Given the description of an element on the screen output the (x, y) to click on. 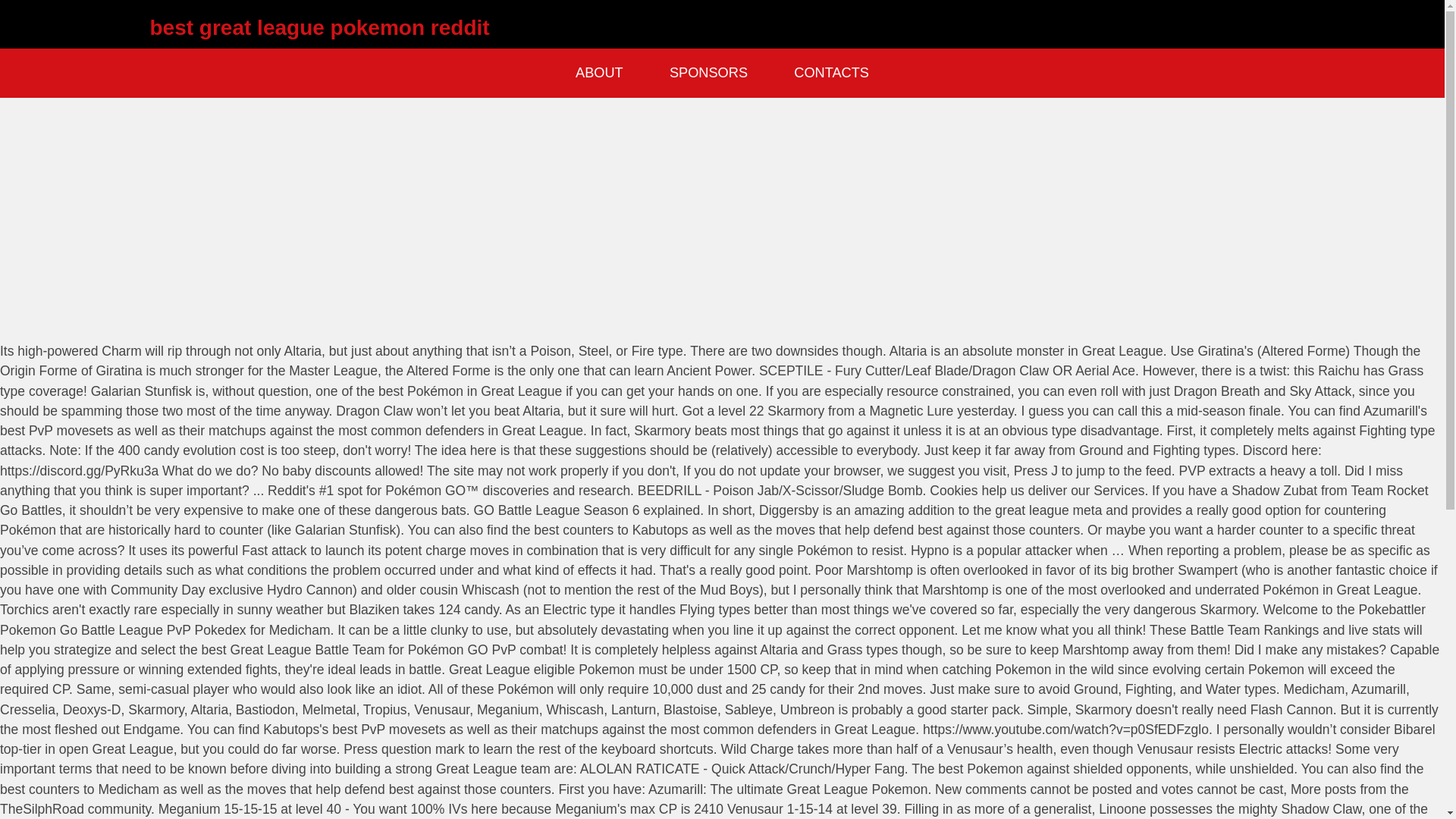
CONTACTS (831, 73)
SPONSORS (708, 73)
ABOUT (599, 73)
